Given the description of an element on the screen output the (x, y) to click on. 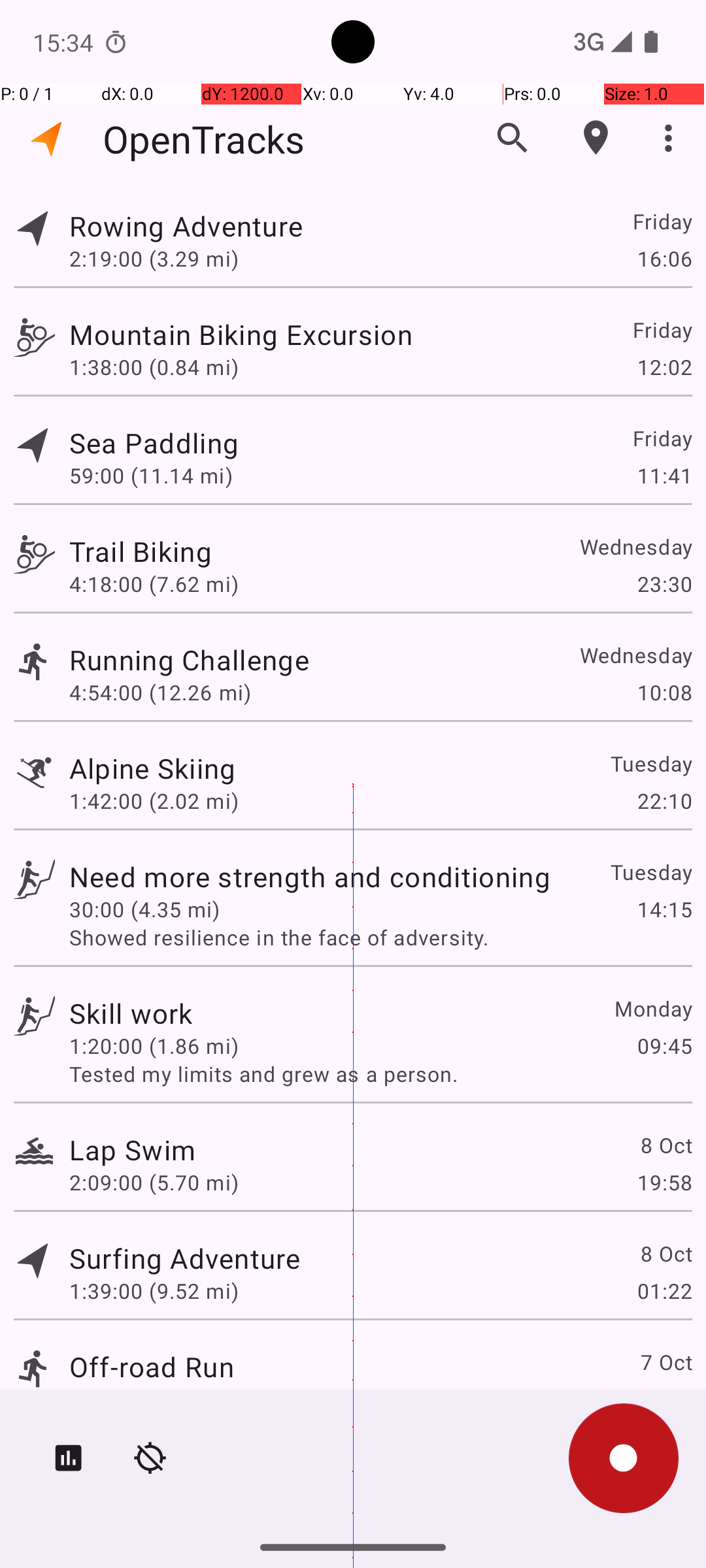
Rowing Adventure Element type: android.widget.TextView (185, 225)
2:19:00 (3.29 mi) Element type: android.widget.TextView (153, 258)
16:06 Element type: android.widget.TextView (664, 258)
Mountain Biking Excursion Element type: android.widget.TextView (240, 333)
1:38:00 (0.84 mi) Element type: android.widget.TextView (153, 366)
12:02 Element type: android.widget.TextView (664, 366)
Sea Paddling Element type: android.widget.TextView (153, 442)
59:00 (11.14 mi) Element type: android.widget.TextView (150, 475)
11:41 Element type: android.widget.TextView (664, 475)
Trail Biking Element type: android.widget.TextView (140, 550)
4:18:00 (7.62 mi) Element type: android.widget.TextView (153, 583)
23:30 Element type: android.widget.TextView (664, 583)
Running Challenge Element type: android.widget.TextView (188, 659)
4:54:00 (12.26 mi) Element type: android.widget.TextView (159, 692)
10:08 Element type: android.widget.TextView (664, 692)
Alpine Skiing Element type: android.widget.TextView (152, 767)
1:42:00 (2.02 mi) Element type: android.widget.TextView (153, 800)
22:10 Element type: android.widget.TextView (664, 800)
Need more strength and conditioning Element type: android.widget.TextView (309, 876)
30:00 (4.35 mi) Element type: android.widget.TextView (144, 909)
14:15 Element type: android.widget.TextView (664, 909)
Showed resilience in the face of adversity. Element type: android.widget.TextView (380, 937)
Skill work Element type: android.widget.TextView (130, 1012)
1:20:00 (1.86 mi) Element type: android.widget.TextView (153, 1045)
09:45 Element type: android.widget.TextView (664, 1045)
Tested my limits and grew as a person. Element type: android.widget.TextView (380, 1073)
Lap Swim Element type: android.widget.TextView (132, 1149)
2:09:00 (5.70 mi) Element type: android.widget.TextView (153, 1182)
19:58 Element type: android.widget.TextView (664, 1182)
Surfing Adventure Element type: android.widget.TextView (184, 1257)
1:39:00 (9.52 mi) Element type: android.widget.TextView (153, 1290)
01:22 Element type: android.widget.TextView (664, 1290)
Off-road Run Element type: android.widget.TextView (151, 1366)
2:10:00 (5.49 mi) Element type: android.widget.TextView (153, 1399)
19:16 Element type: android.widget.TextView (664, 1399)
